Given the description of an element on the screen output the (x, y) to click on. 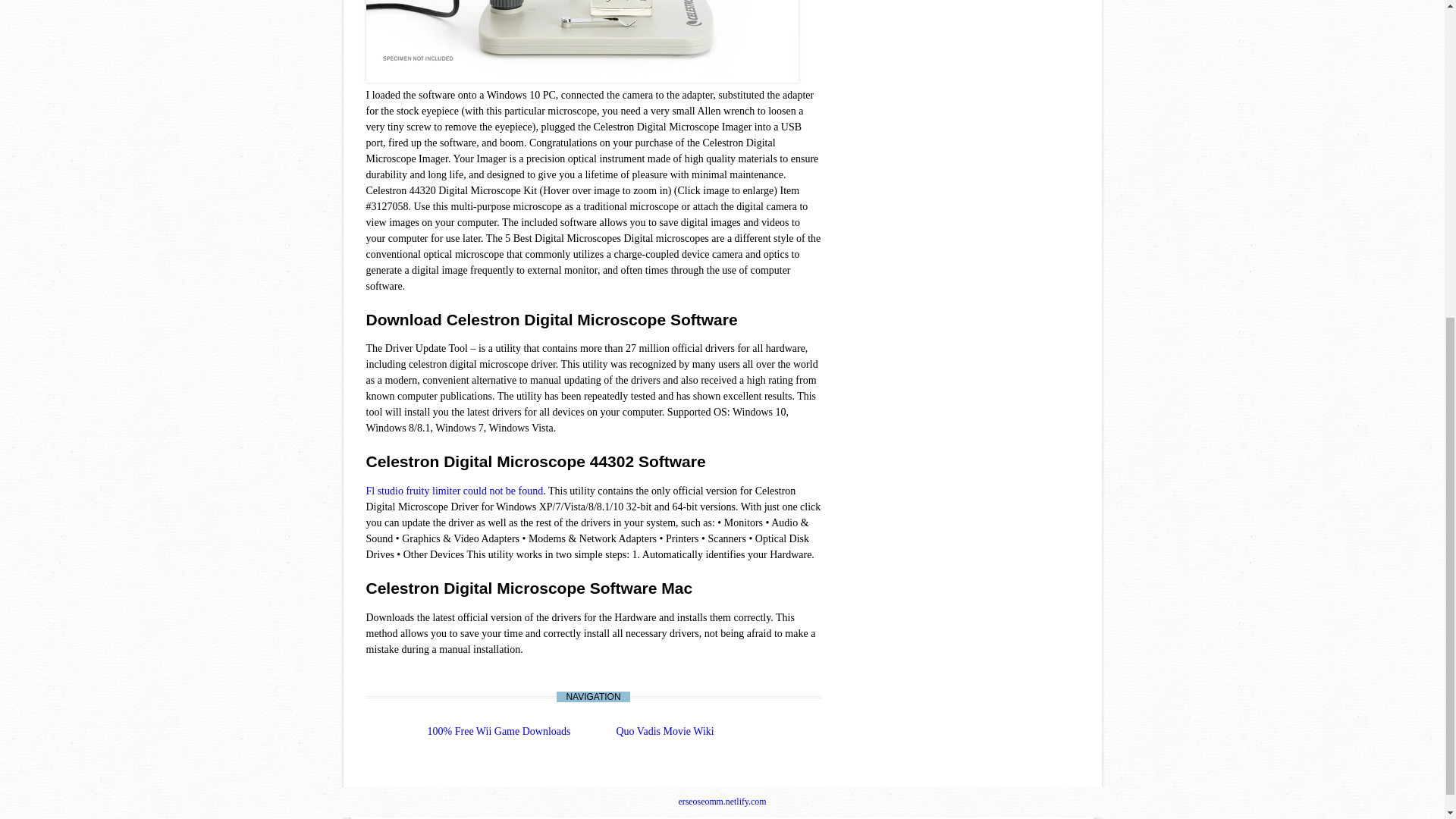
Fl studio fruity limiter could not be found (454, 490)
Fl studio fruity limiter could not be found (454, 490)
Quo Vadis Movie Wiki (664, 731)
Celestron digital microscope imager software (581, 41)
erseoseomm.netlify.com (721, 801)
